Given the description of an element on the screen output the (x, y) to click on. 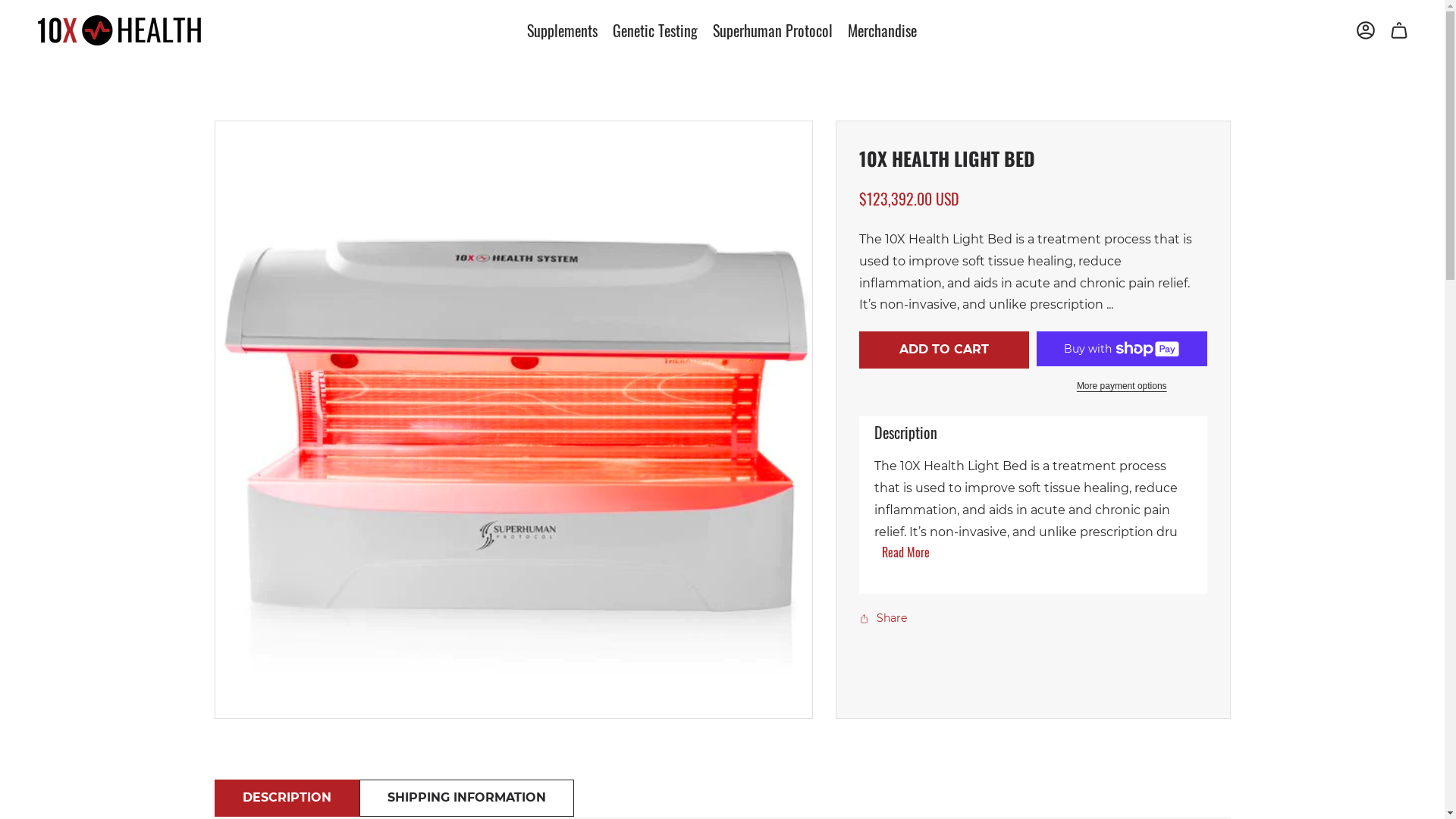
Merchandise Element type: text (882, 29)
DESCRIPTION Element type: text (285, 797)
Cart Element type: text (1398, 30)
SKIP TO PRODUCT INFORMATION Element type: text (259, 130)
Supplements Element type: text (562, 29)
ADD TO CART Element type: text (943, 349)
More payment options Element type: text (1121, 385)
Log in Element type: text (1365, 30)
SHIPPING INFORMATION Element type: text (466, 797)
Superhuman Protocol Element type: text (772, 29)
Genetic Testing Element type: text (655, 29)
